Given the description of an element on the screen output the (x, y) to click on. 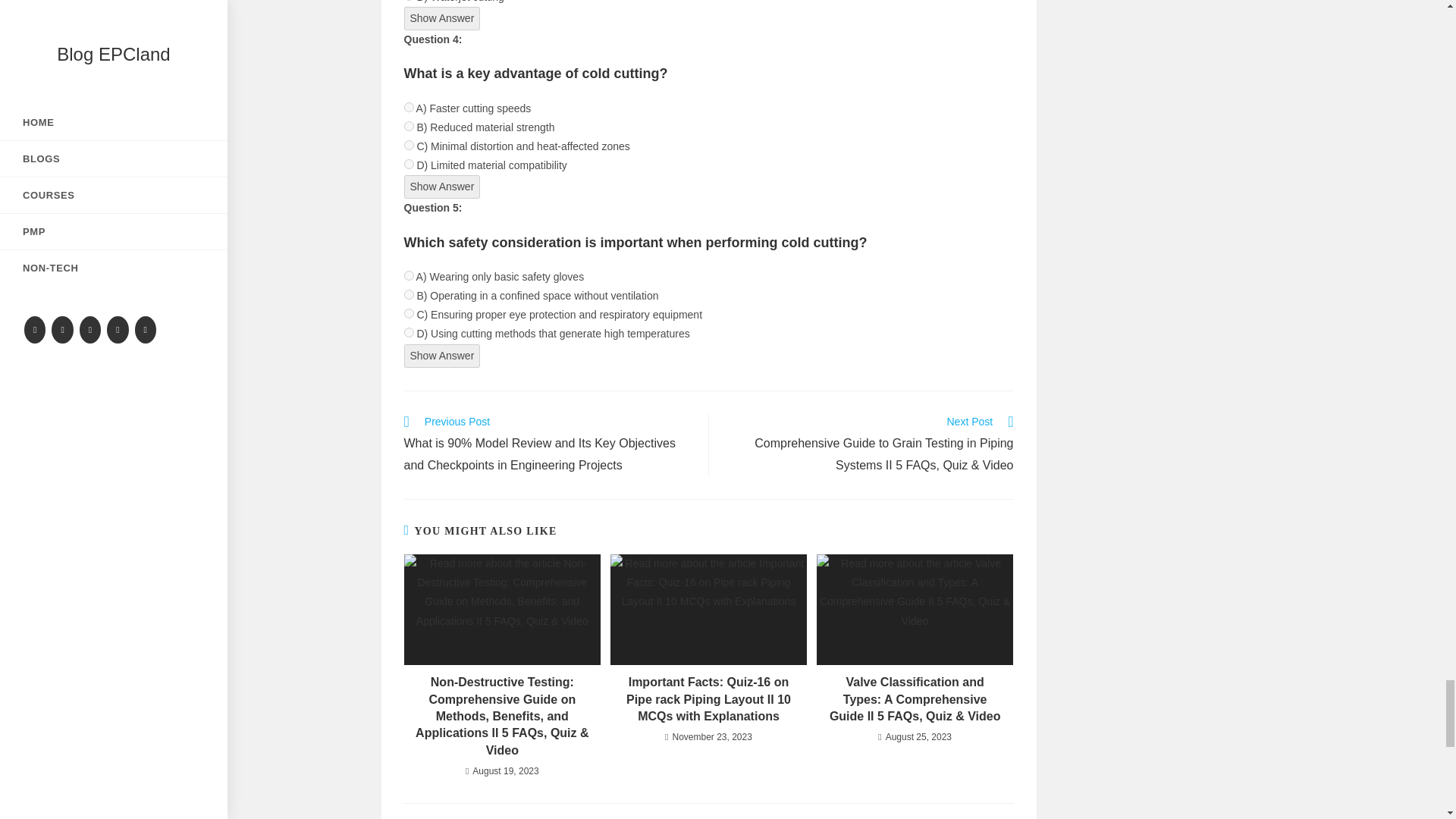
A (408, 106)
D (408, 163)
D (408, 332)
A (408, 275)
B (408, 294)
C (408, 313)
B (408, 126)
C (408, 144)
